Given the description of an element on the screen output the (x, y) to click on. 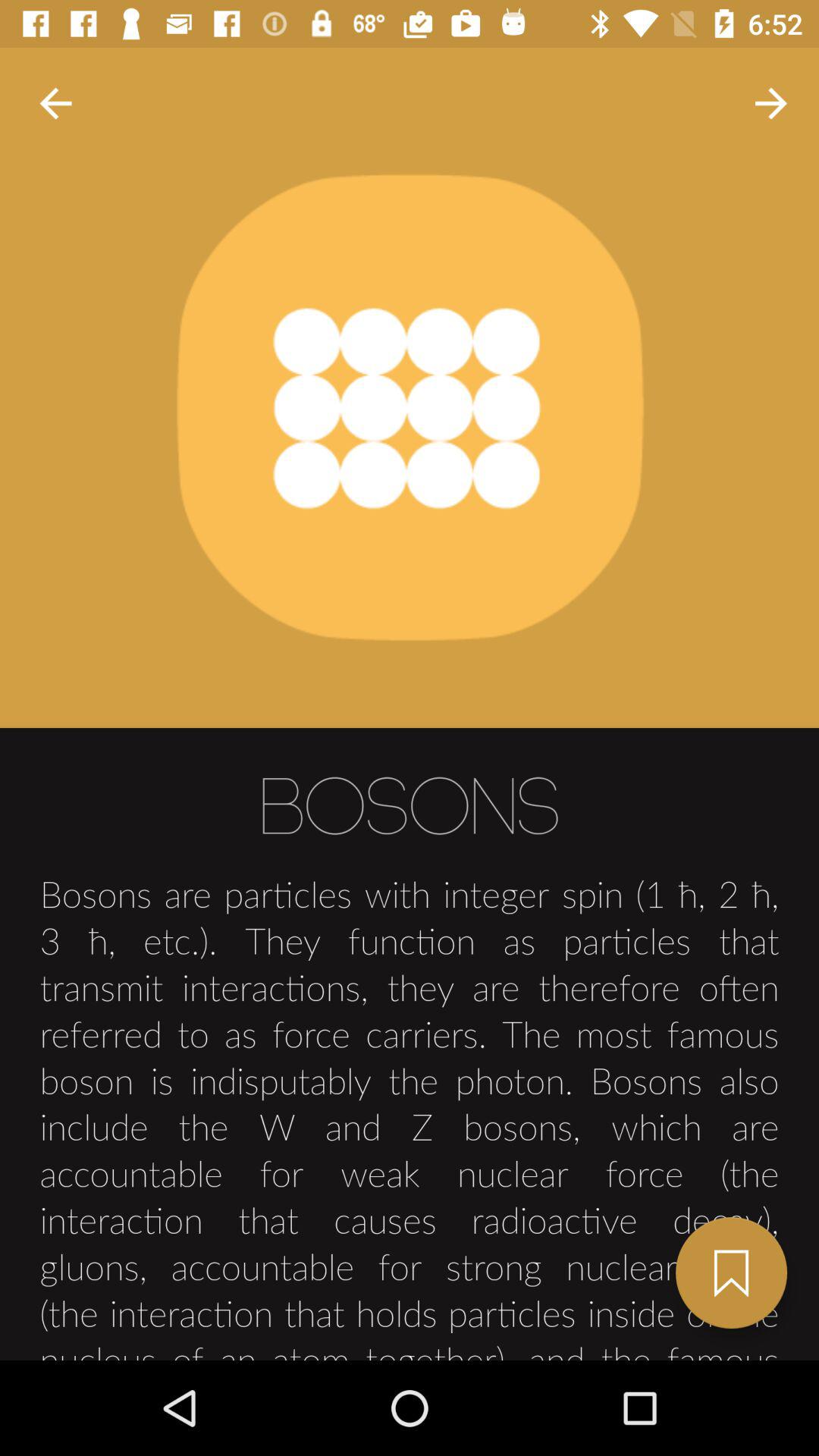
go to next (731, 1272)
